Given the description of an element on the screen output the (x, y) to click on. 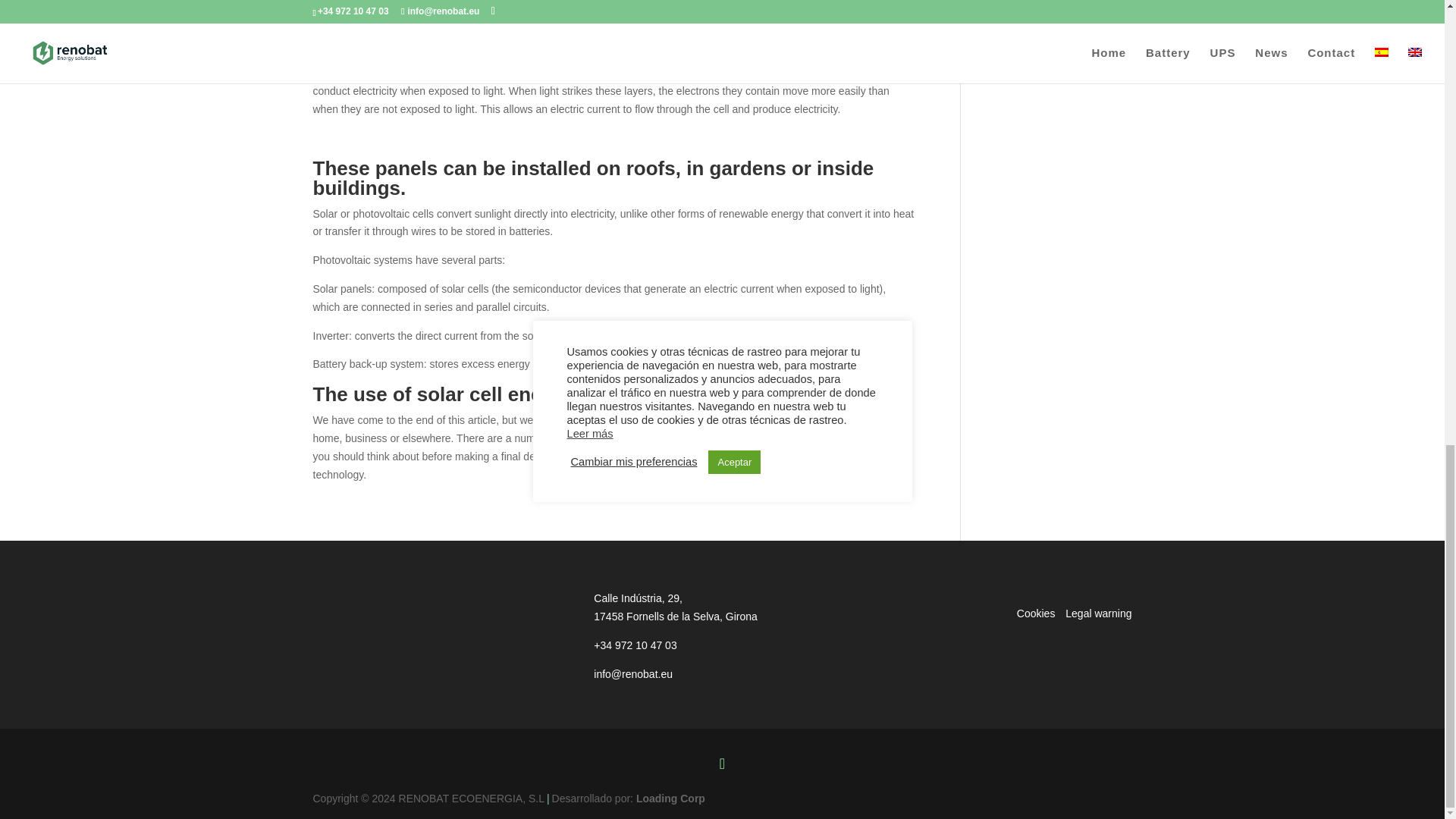
Loading Corp (670, 798)
Cookies (1035, 613)
Legal warning (1098, 613)
batteries for solar (786, 26)
